Given the description of an element on the screen output the (x, y) to click on. 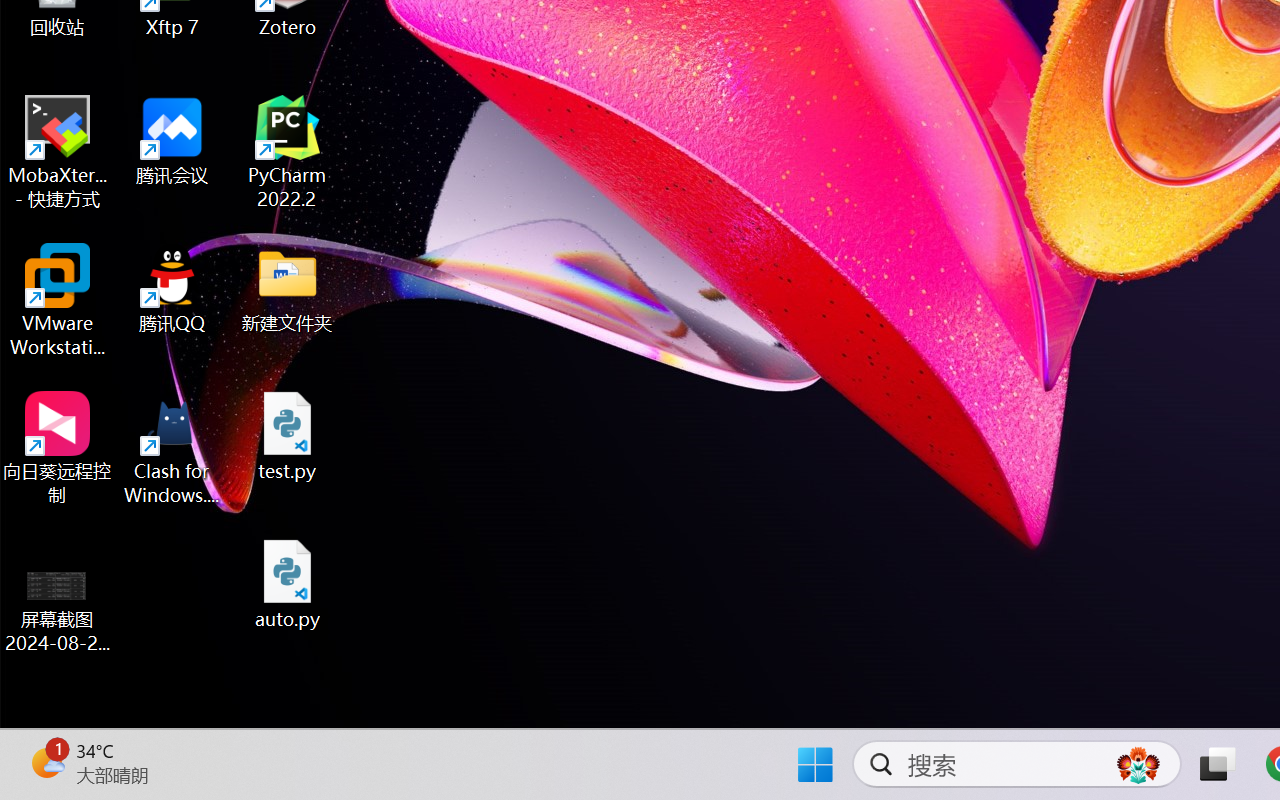
test.py (287, 436)
auto.py (287, 584)
PyCharm 2022.2 (287, 152)
